Given the description of an element on the screen output the (x, y) to click on. 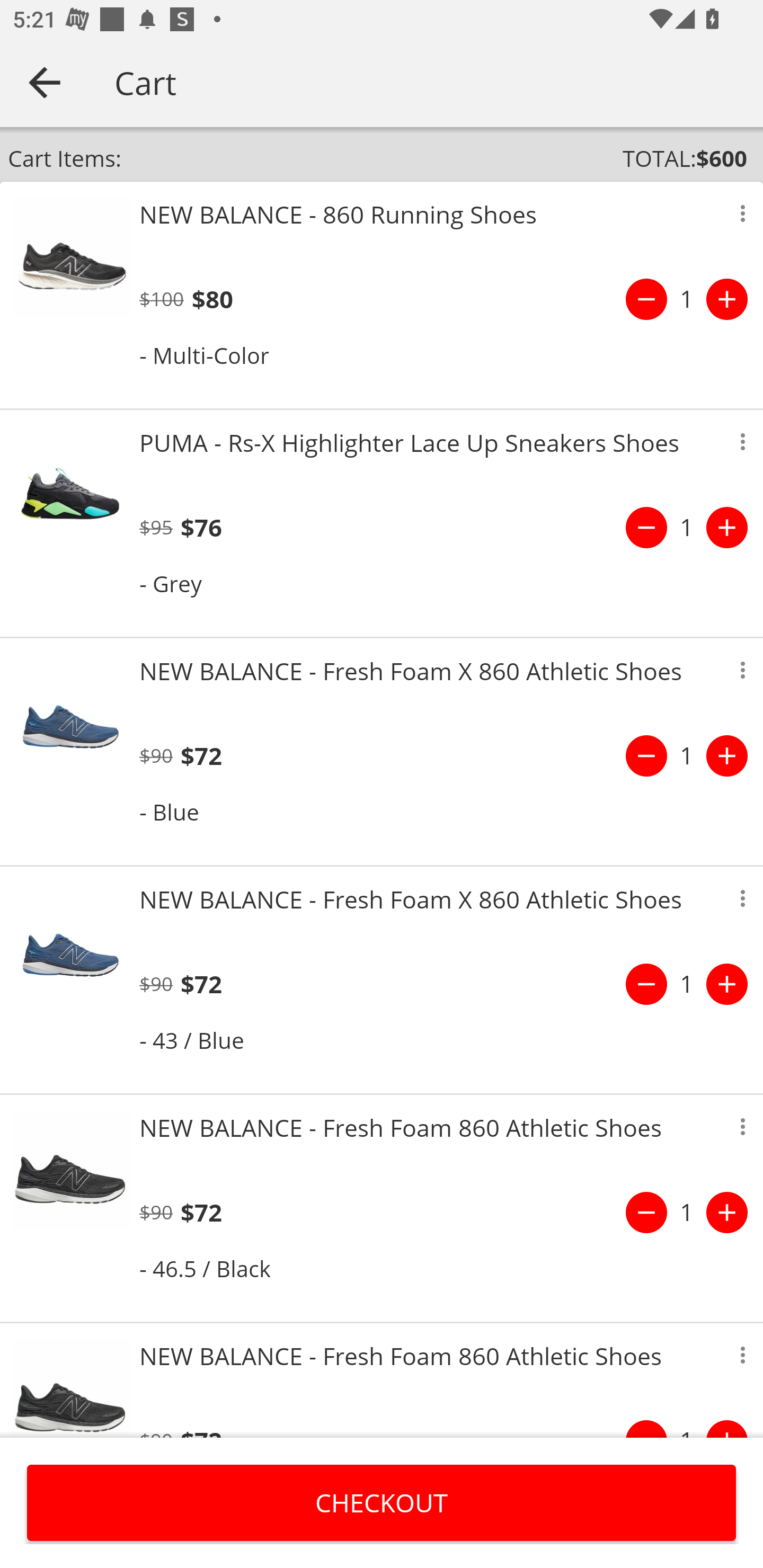
Navigate up (44, 82)
1 (686, 299)
1 (686, 527)
1 (686, 755)
1 (686, 984)
1 (686, 1211)
CHECKOUT (381, 1502)
